Given the description of an element on the screen output the (x, y) to click on. 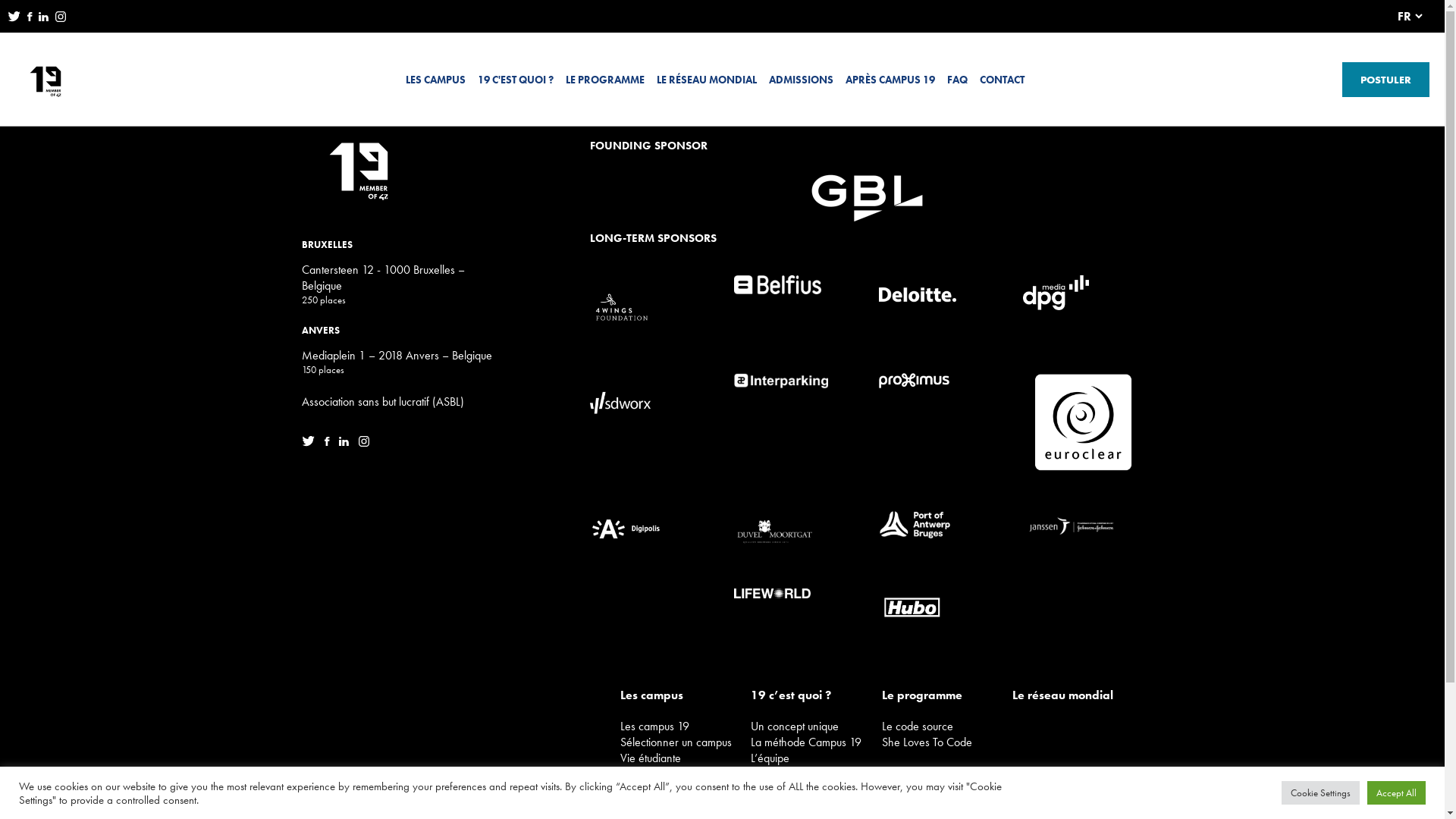
Accept All Element type: text (1396, 792)
42 sur Instagram Element type: text (63, 15)
FAQ Element type: text (946, 804)
19 C'EST QUOI ? Element type: text (515, 79)
42 sur Facebook Element type: text (331, 439)
42 sur Twitter Element type: text (312, 439)
42 sur Twitter Element type: text (17, 15)
FAQ Element type: text (957, 79)
Le programme Element type: text (946, 694)
Contact Element type: text (1077, 804)
42 sur Instagram Element type: text (365, 439)
ADMISSIONS Element type: text (800, 79)
POSTULER Element type: text (1385, 79)
Inscription Element type: text (685, 773)
Les campus 19 Element type: text (685, 726)
42 sur LinkedIn Element type: text (46, 15)
Les campus Element type: text (685, 694)
Cookie Settings Element type: text (1320, 792)
42 sur LinkedIn Element type: text (347, 439)
LE PROGRAMME Element type: text (604, 79)
42 sur Facebook Element type: text (32, 15)
Un concept unique Element type: text (815, 726)
Admissions Element type: text (685, 804)
LES CAMPUS Element type: text (435, 79)
Le code source Element type: text (946, 726)
CONTACT Element type: text (1001, 79)
She Loves To Code Element type: text (946, 741)
